Given the description of an element on the screen output the (x, y) to click on. 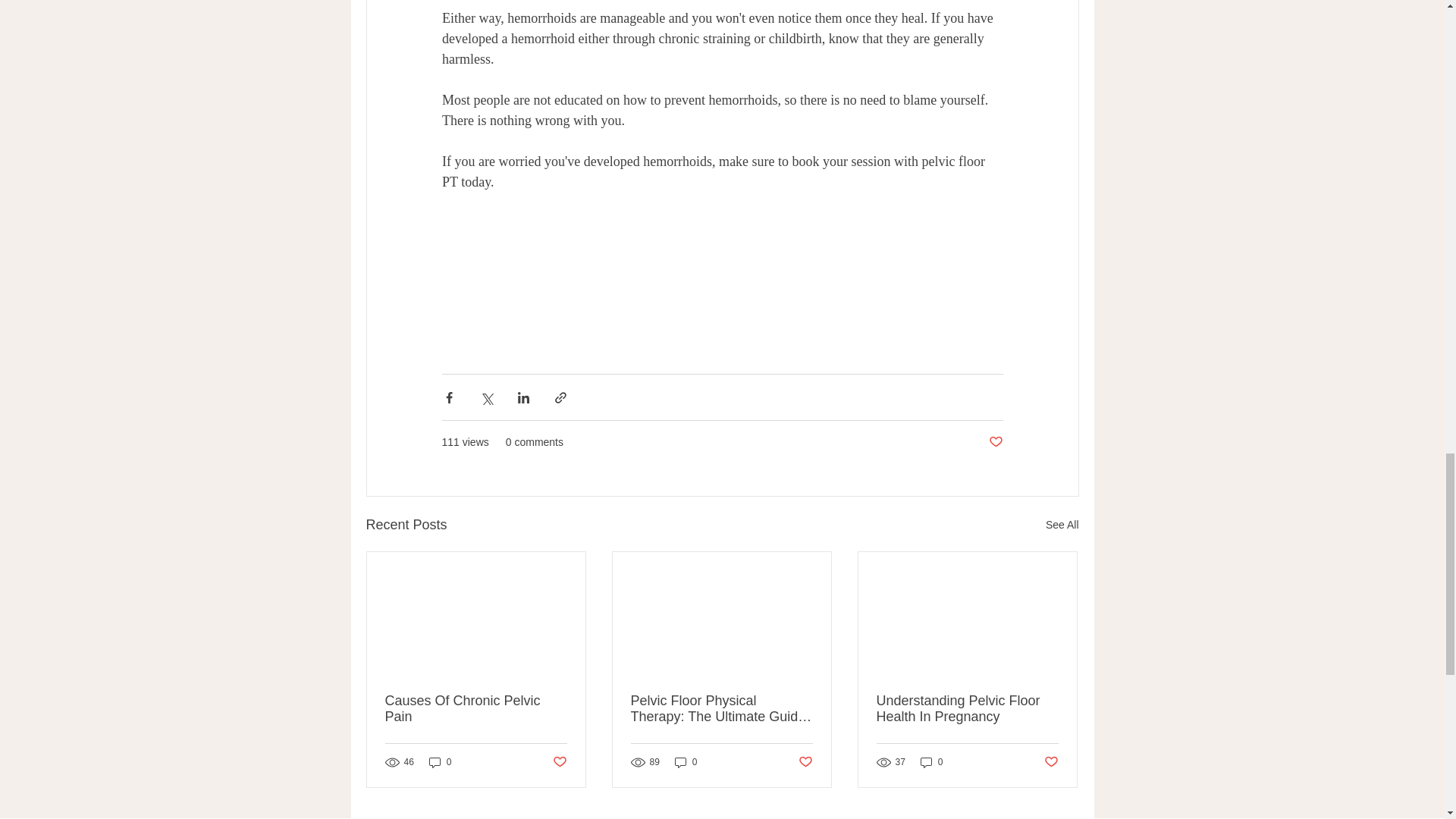
0 (685, 762)
Understanding Pelvic Floor Health In Pregnancy (967, 708)
Post not marked as liked (558, 761)
Post not marked as liked (1050, 761)
0 (440, 762)
Causes Of Chronic Pelvic Pain (476, 708)
Post not marked as liked (804, 761)
0 (931, 762)
See All (1061, 525)
